Given the description of an element on the screen output the (x, y) to click on. 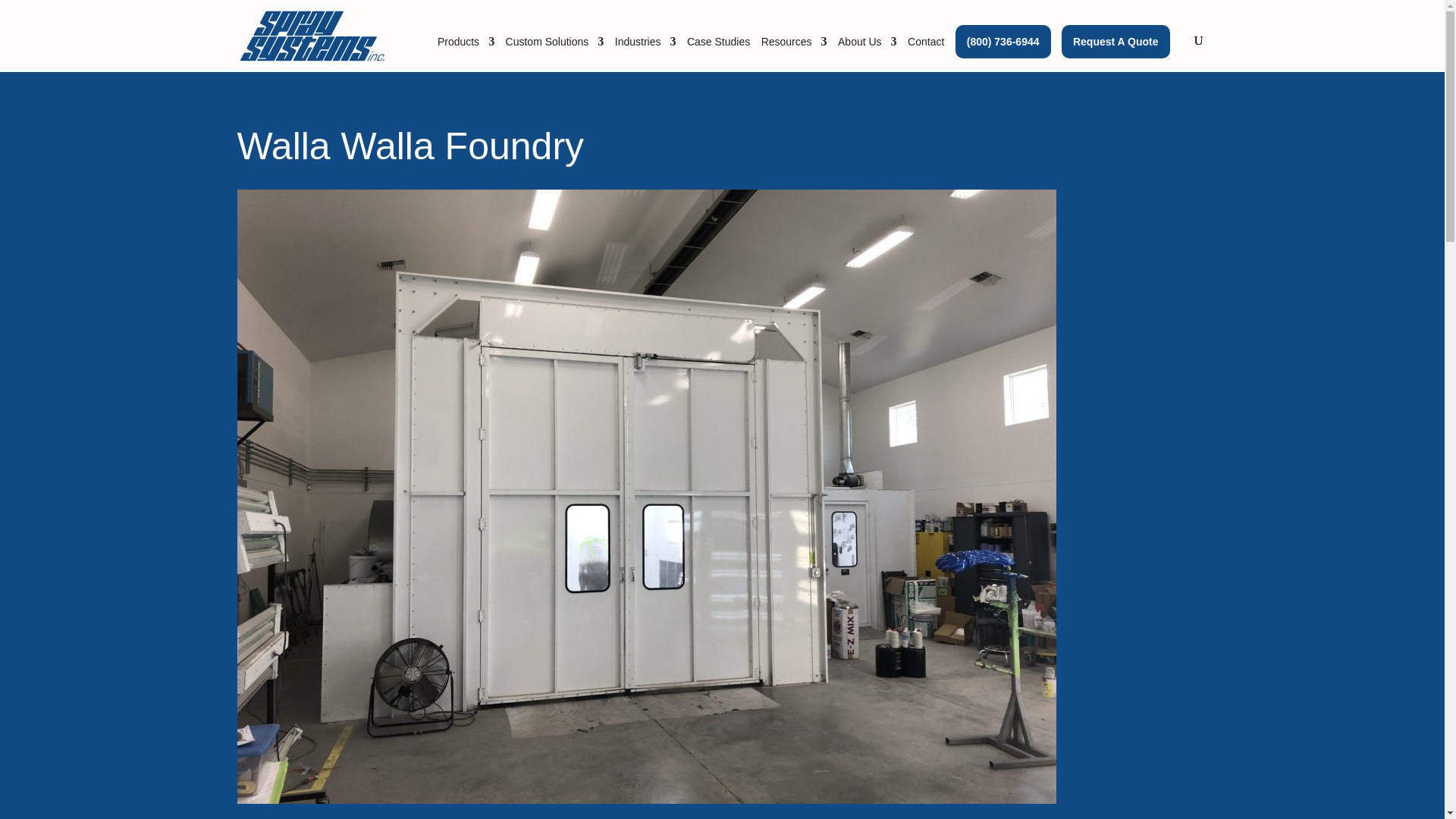
Industries (645, 54)
Products (466, 54)
Resources (794, 54)
Custom Solutions (554, 54)
Case Studies (718, 54)
